Given the description of an element on the screen output the (x, y) to click on. 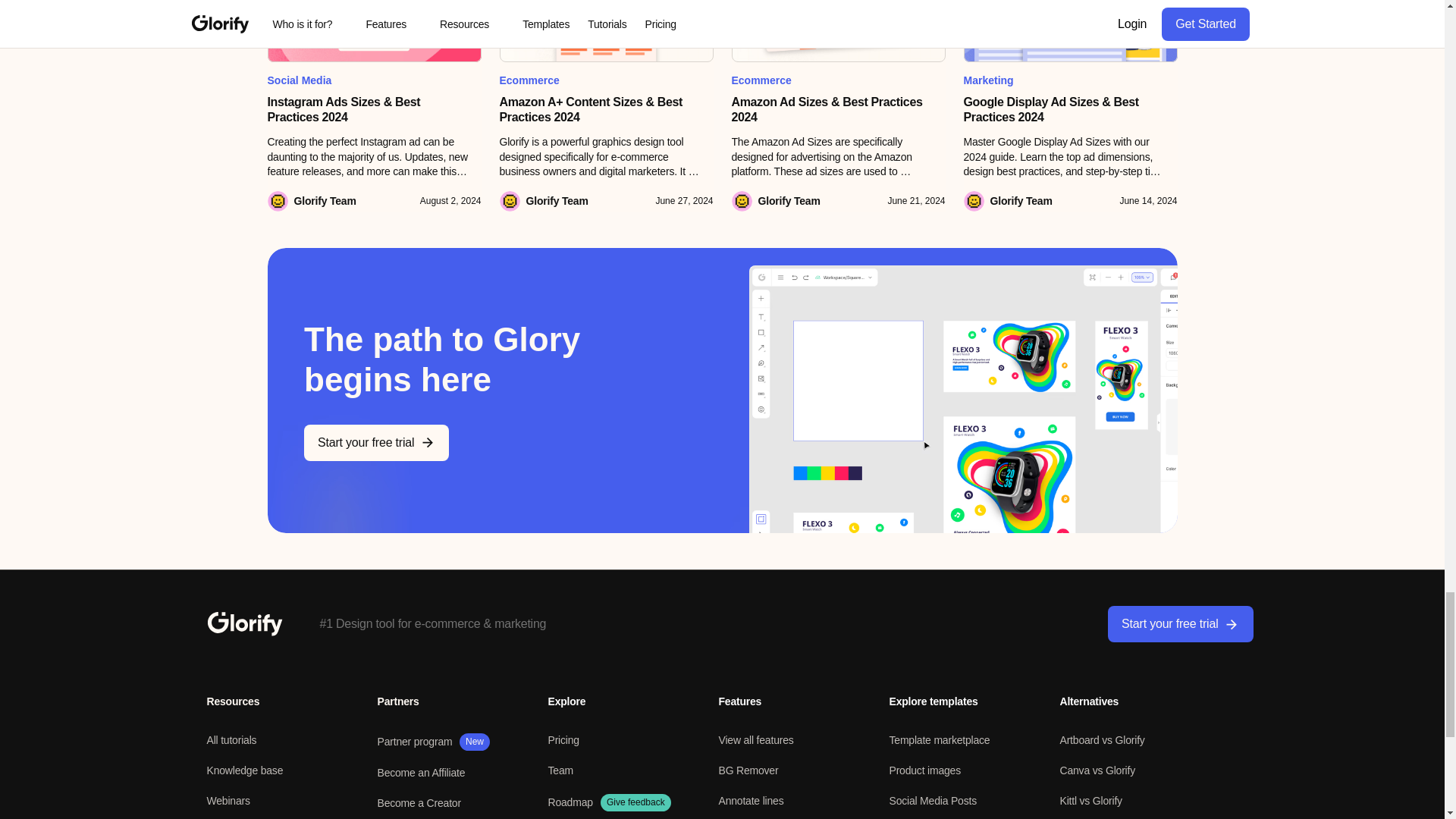
New (474, 742)
View all features (756, 739)
Become a Creator (419, 802)
Knowledge base (244, 770)
Start your free trial (375, 443)
Webinars (227, 800)
Annotate lines (751, 800)
Roadmap (569, 802)
Become an Affiliate (421, 772)
Start your free trial (1180, 624)
